Given the description of an element on the screen output the (x, y) to click on. 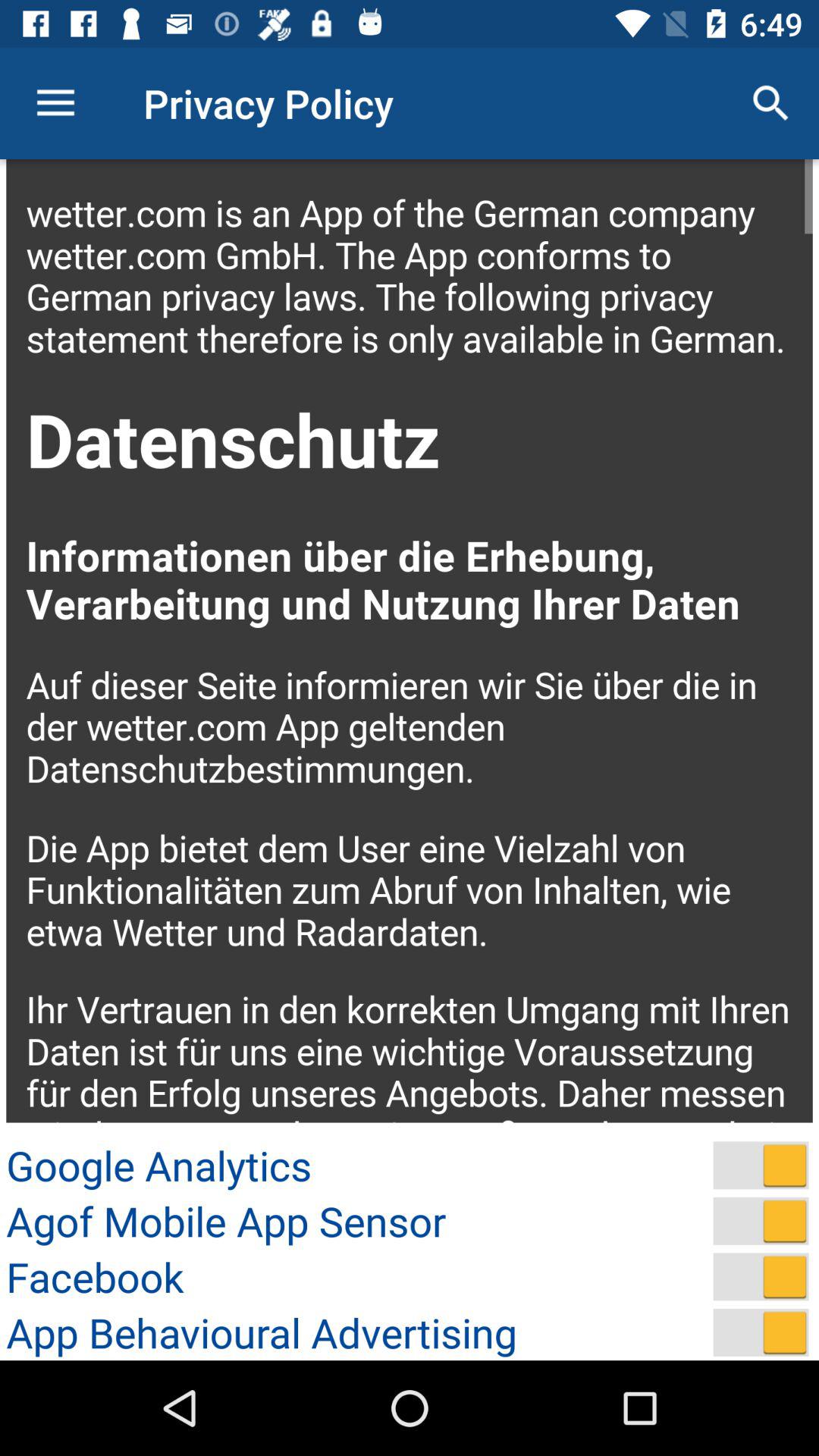
toggle facebook option (760, 1276)
